Given the description of an element on the screen output the (x, y) to click on. 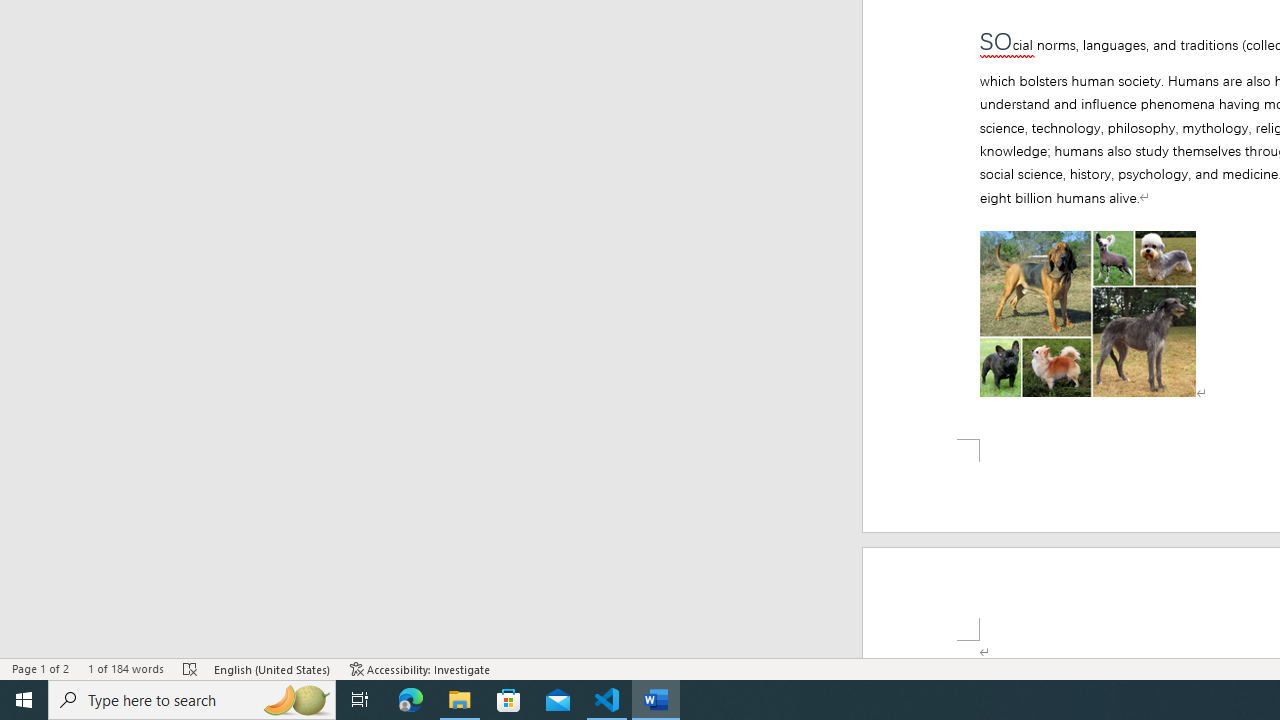
Morphological variation in six dogs (1087, 313)
Page Number Page 1 of 2 (39, 668)
